Given the description of an element on the screen output the (x, y) to click on. 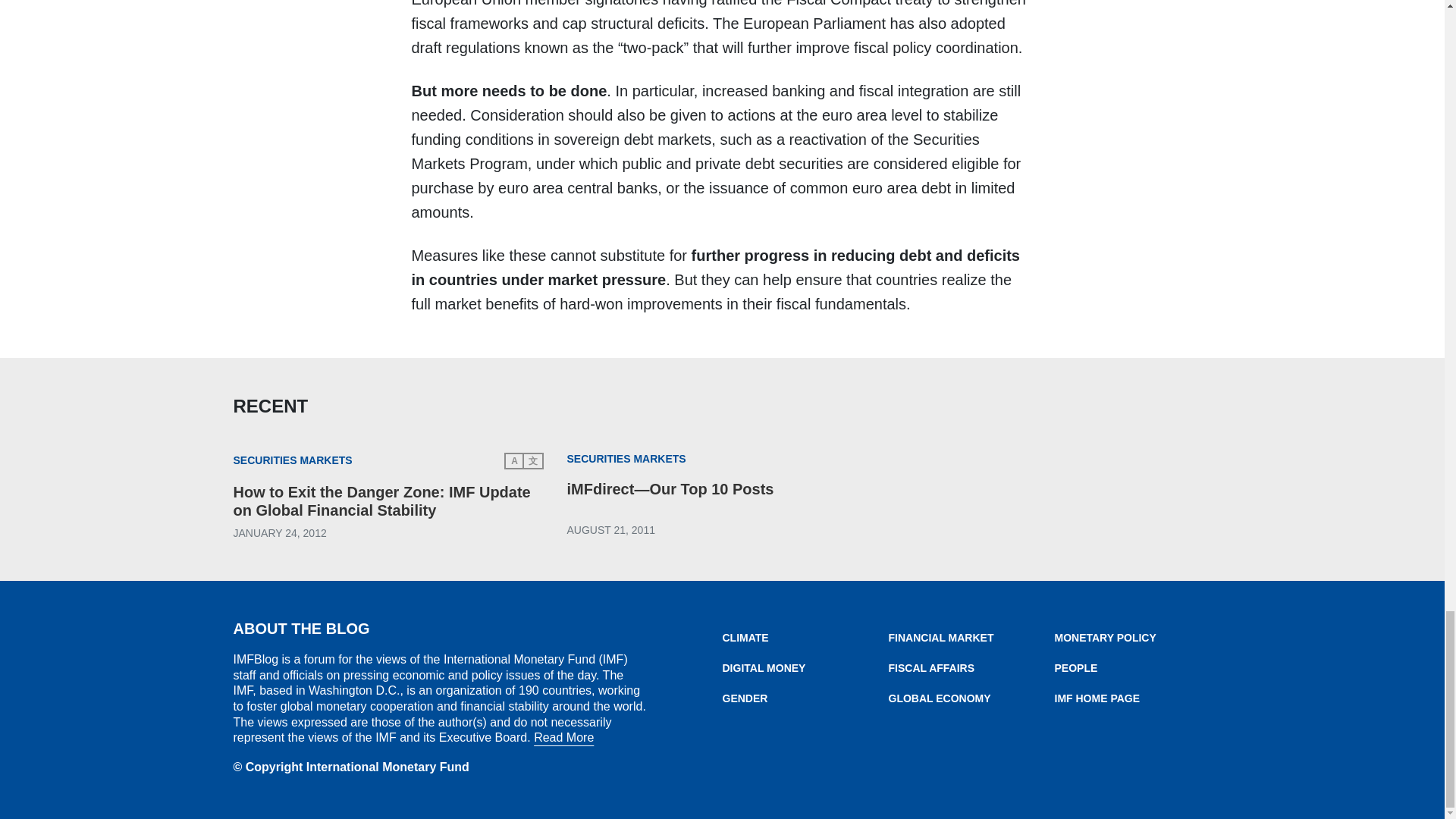
IMF HOME PAGE (1137, 698)
A (513, 460)
GENDER (805, 698)
SECURITIES MARKETS (292, 460)
CLIMATE (805, 637)
DIGITAL MONEY (805, 667)
GLOBAL ECONOMY (971, 698)
FISCAL AFFAIRS (971, 667)
PEOPLE (1137, 667)
FINANCIAL MARKET (971, 637)
SECURITIES MARKETS (625, 459)
MONETARY POLICY (1137, 637)
Read More (564, 737)
